Given the description of an element on the screen output the (x, y) to click on. 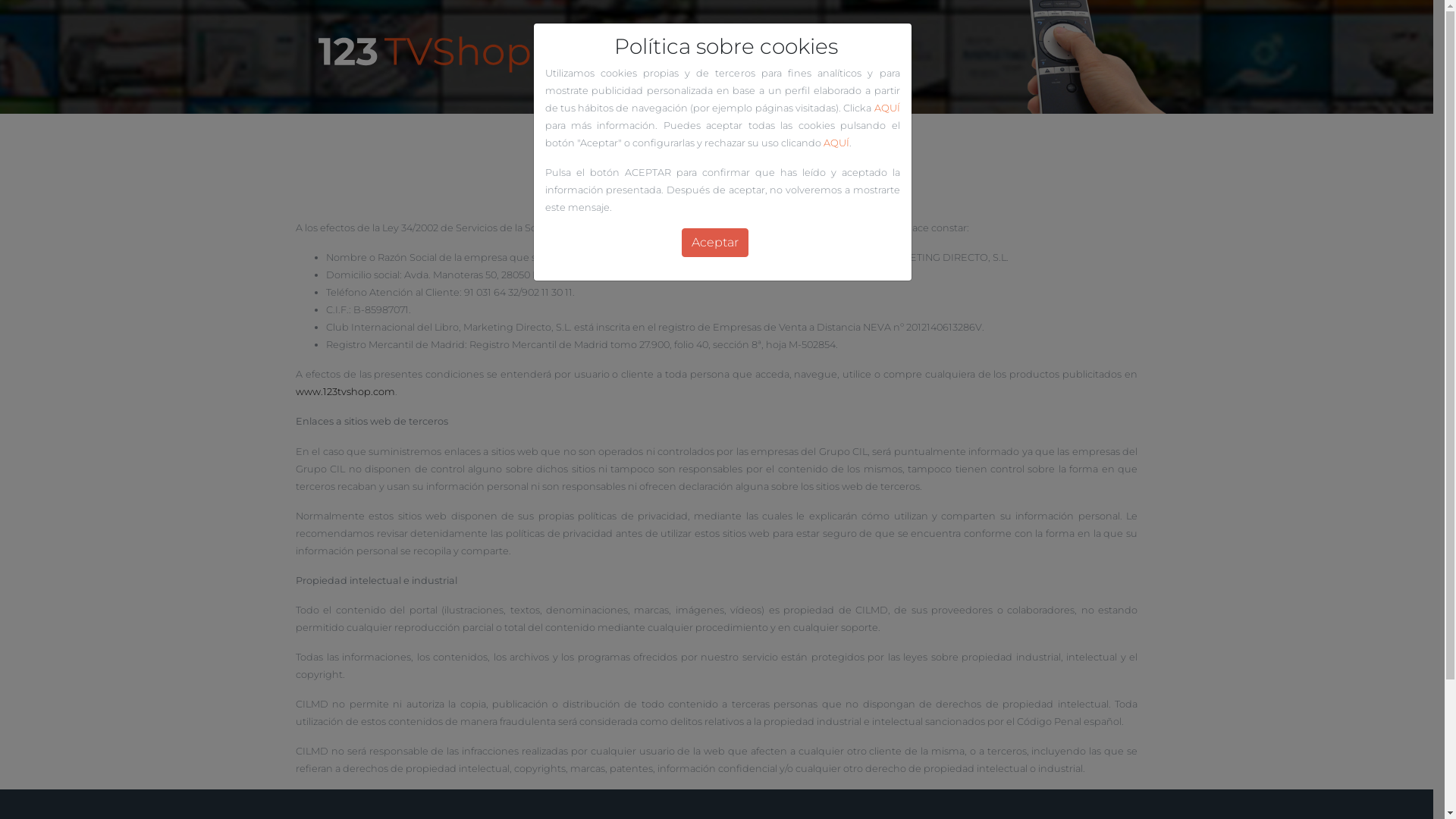
www.123tvshop.com Element type: text (345, 391)
Aceptar Element type: text (713, 242)
